Given the description of an element on the screen output the (x, y) to click on. 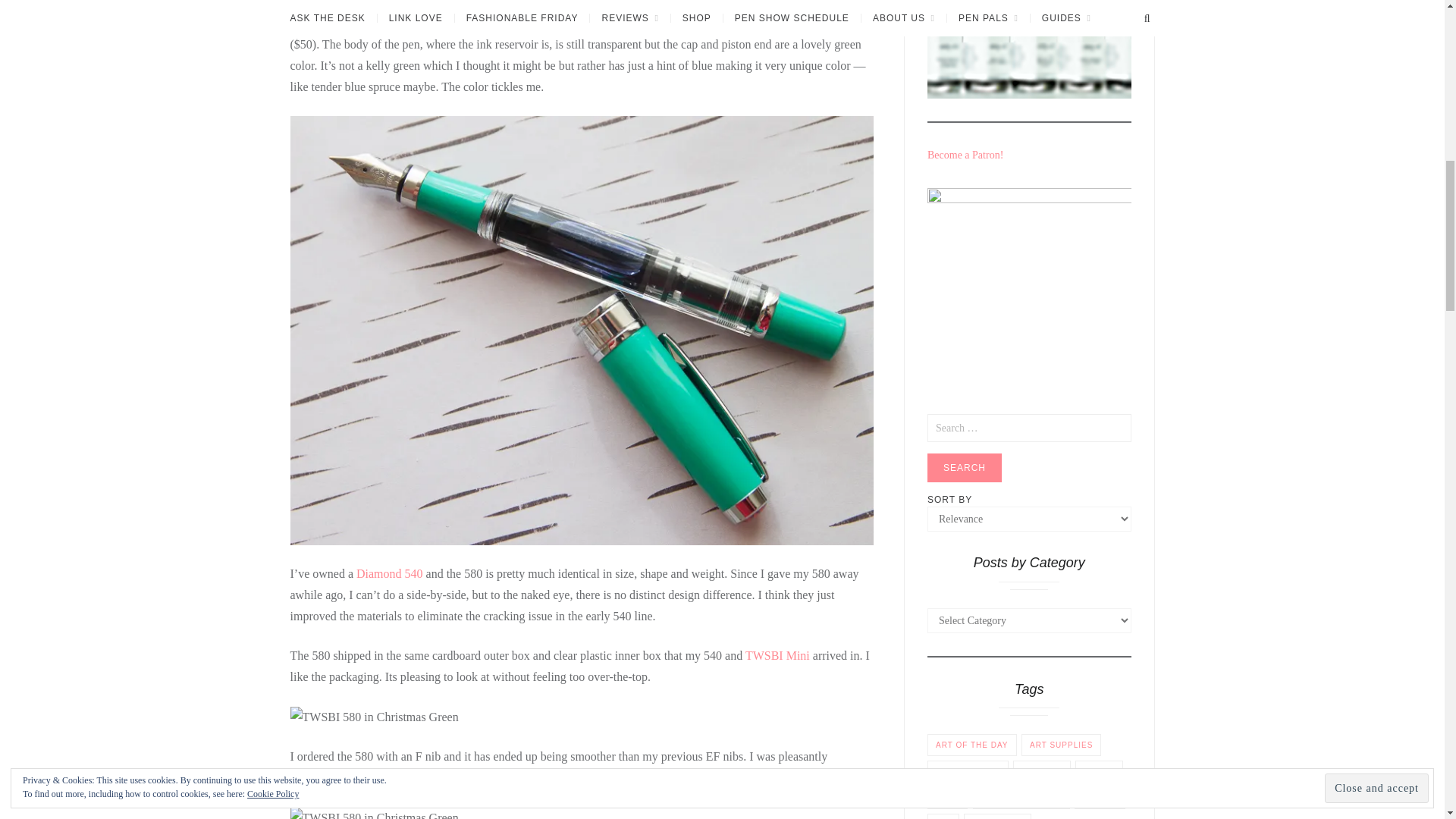
Search (964, 467)
TWSBI Diamond 540 EF Review (389, 573)
TWSBI Diamond 580 in Christmas green color (726, 22)
TWSBI Mini (777, 655)
Diamond 540 (389, 573)
Search (964, 467)
